Given the description of an element on the screen output the (x, y) to click on. 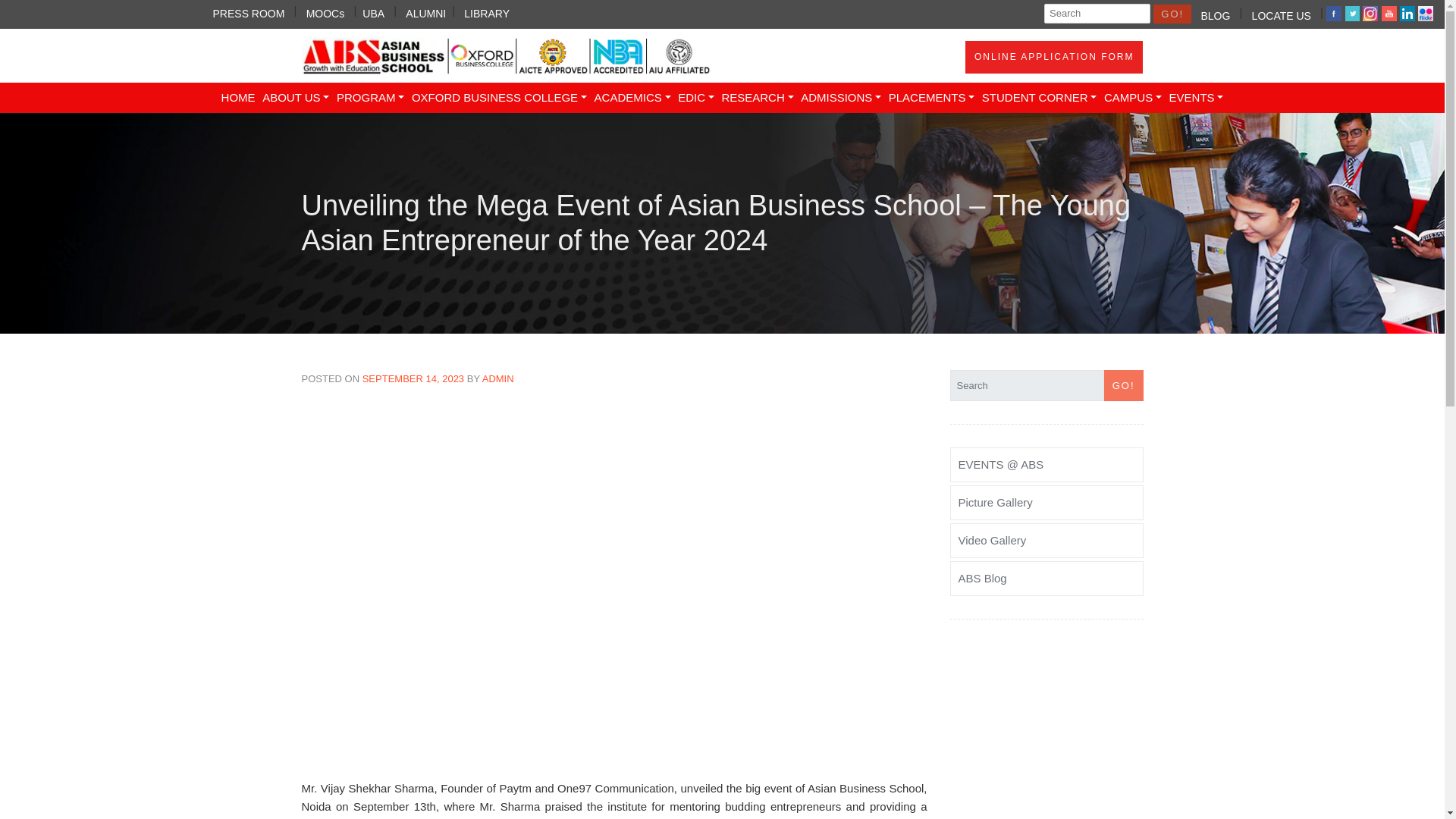
About Us (296, 97)
PRESS ROOM (248, 11)
HOME (237, 97)
BLOG (1214, 13)
LOCATE US (1281, 13)
ABOUT US (296, 97)
Home (237, 97)
GO! (1172, 13)
LIBRARY (486, 11)
ONLINE APPLICATION FORM (1053, 56)
